Given the description of an element on the screen output the (x, y) to click on. 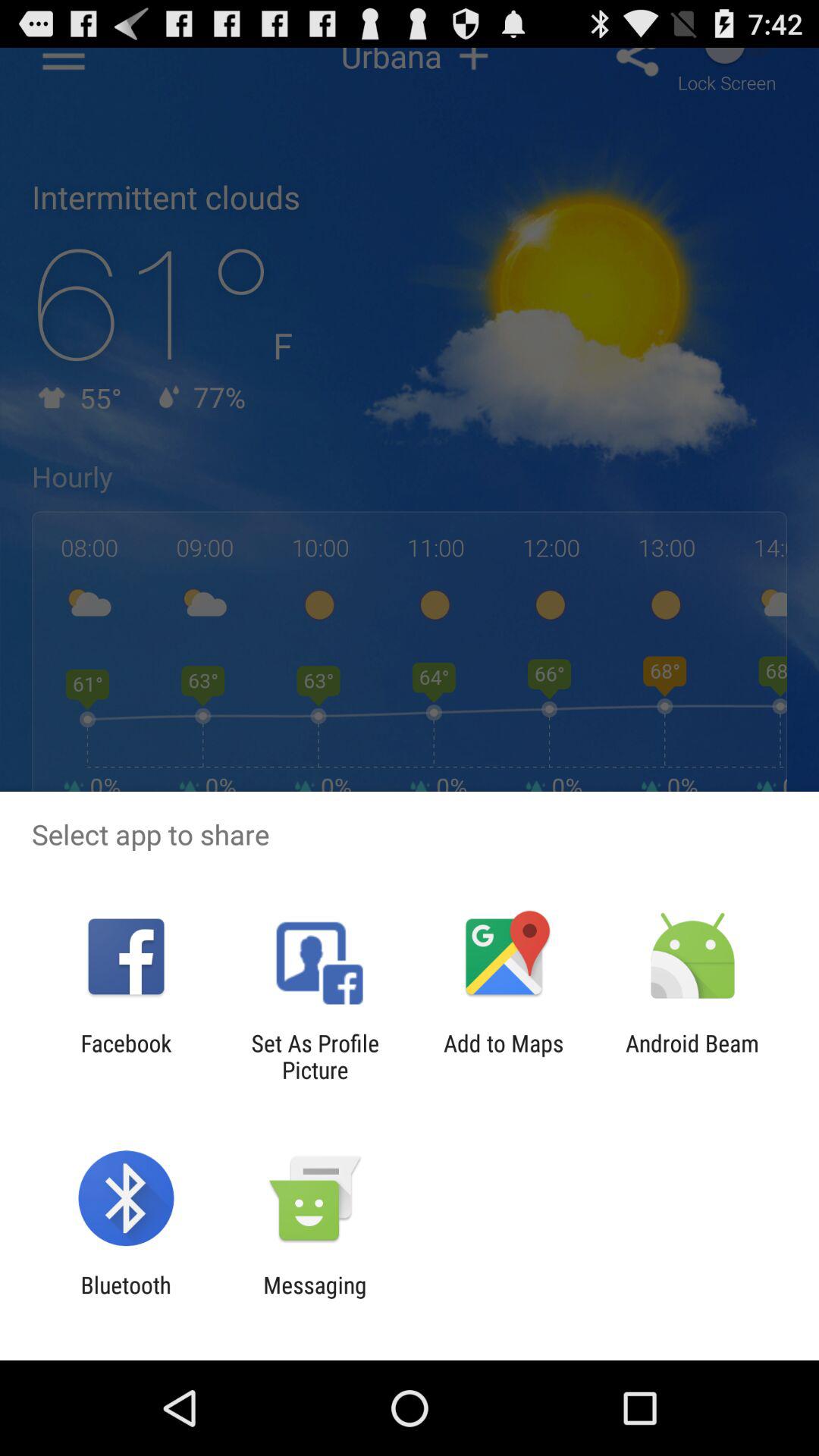
tap the item next to add to maps icon (692, 1056)
